Given the description of an element on the screen output the (x, y) to click on. 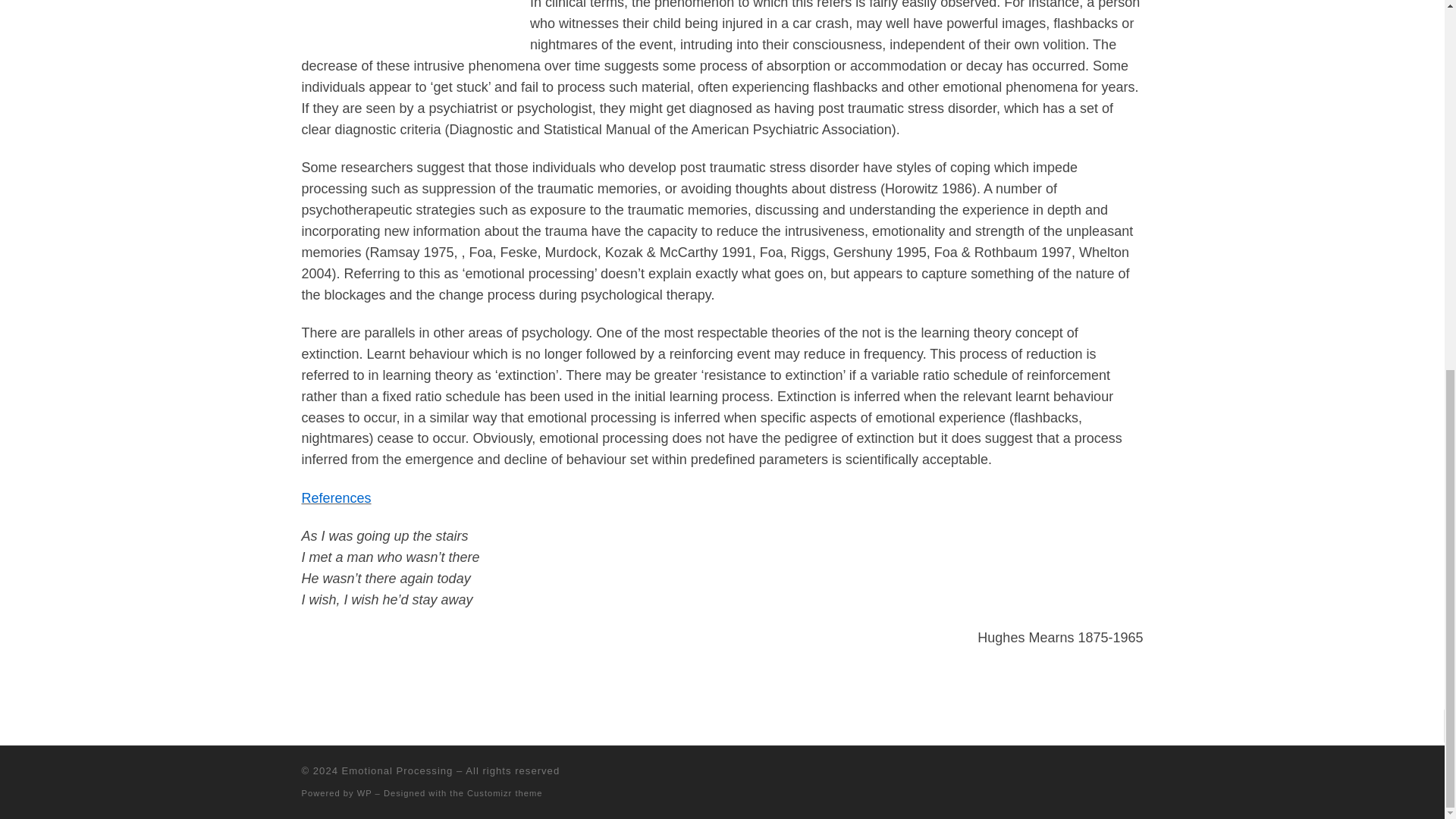
Emotional Processing (397, 770)
Customizr theme (505, 792)
Powered by WordPress (364, 792)
